Given the description of an element on the screen output the (x, y) to click on. 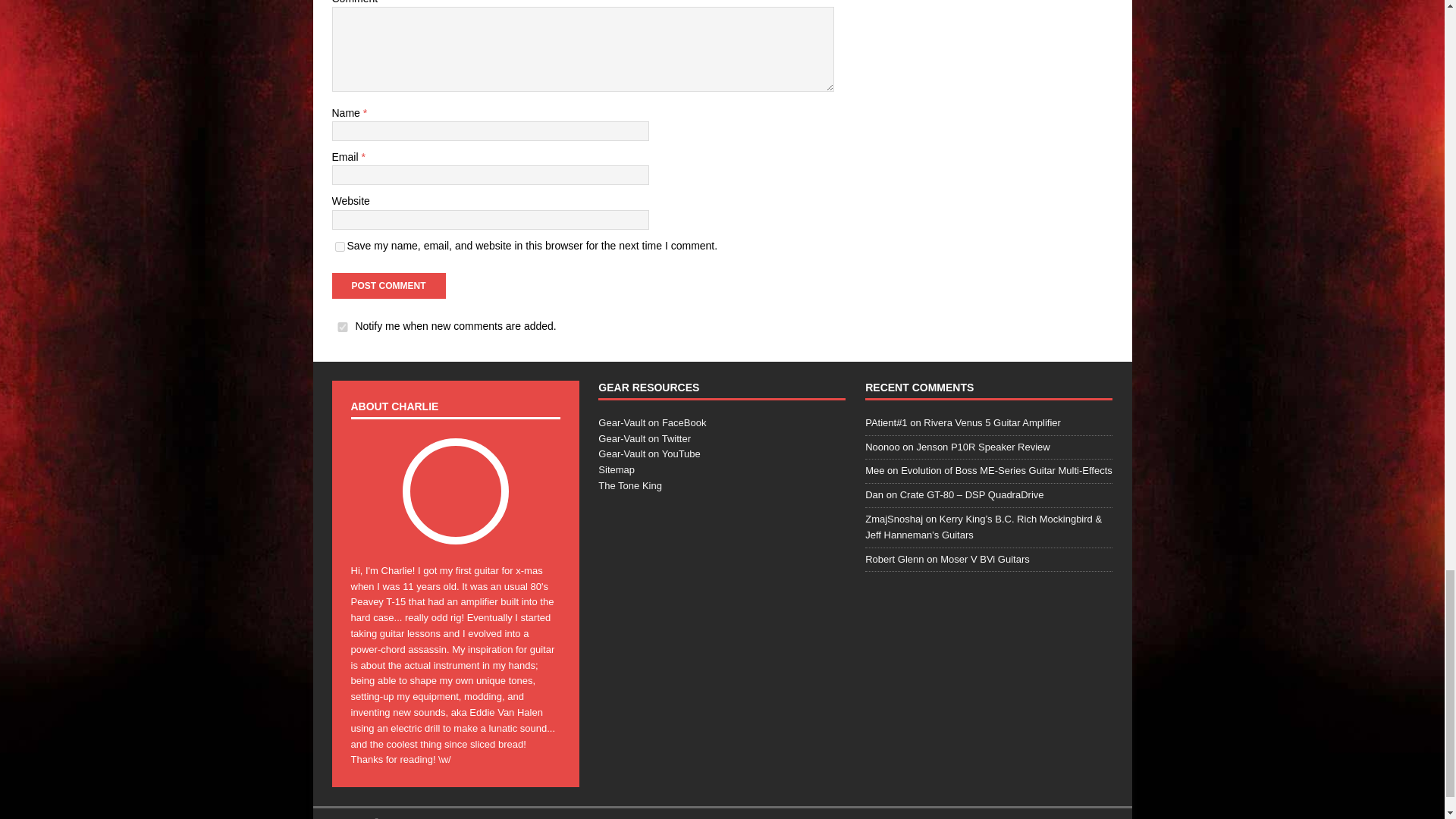
Post Comment (388, 285)
1 (342, 327)
yes (339, 246)
